Given the description of an element on the screen output the (x, y) to click on. 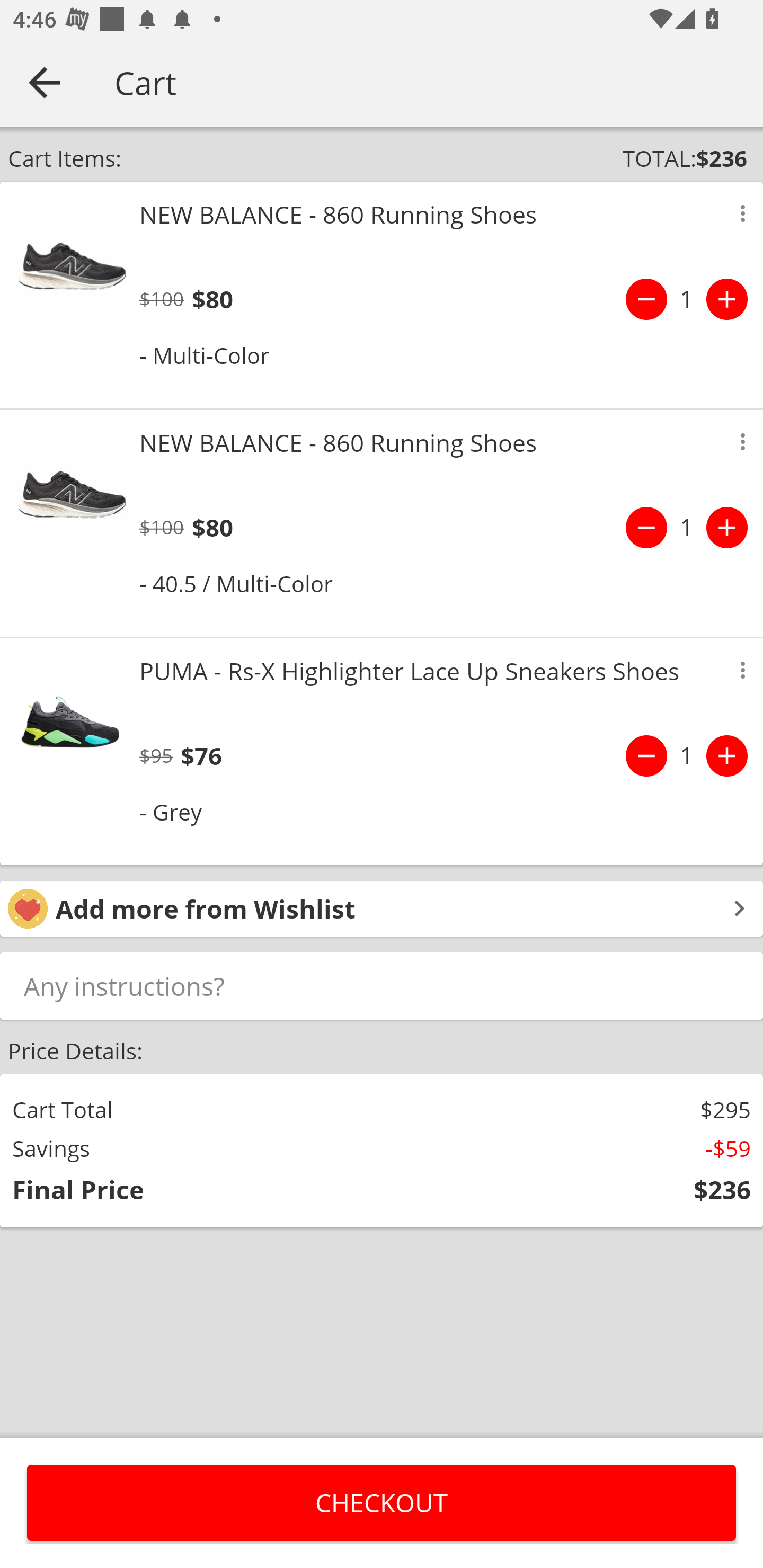
Navigate up (44, 82)
1 (686, 299)
1 (686, 527)
1 (686, 755)
Add more from Wishlist (381, 908)
Any instructions? (381, 985)
CHECKOUT (381, 1502)
